Given the description of an element on the screen output the (x, y) to click on. 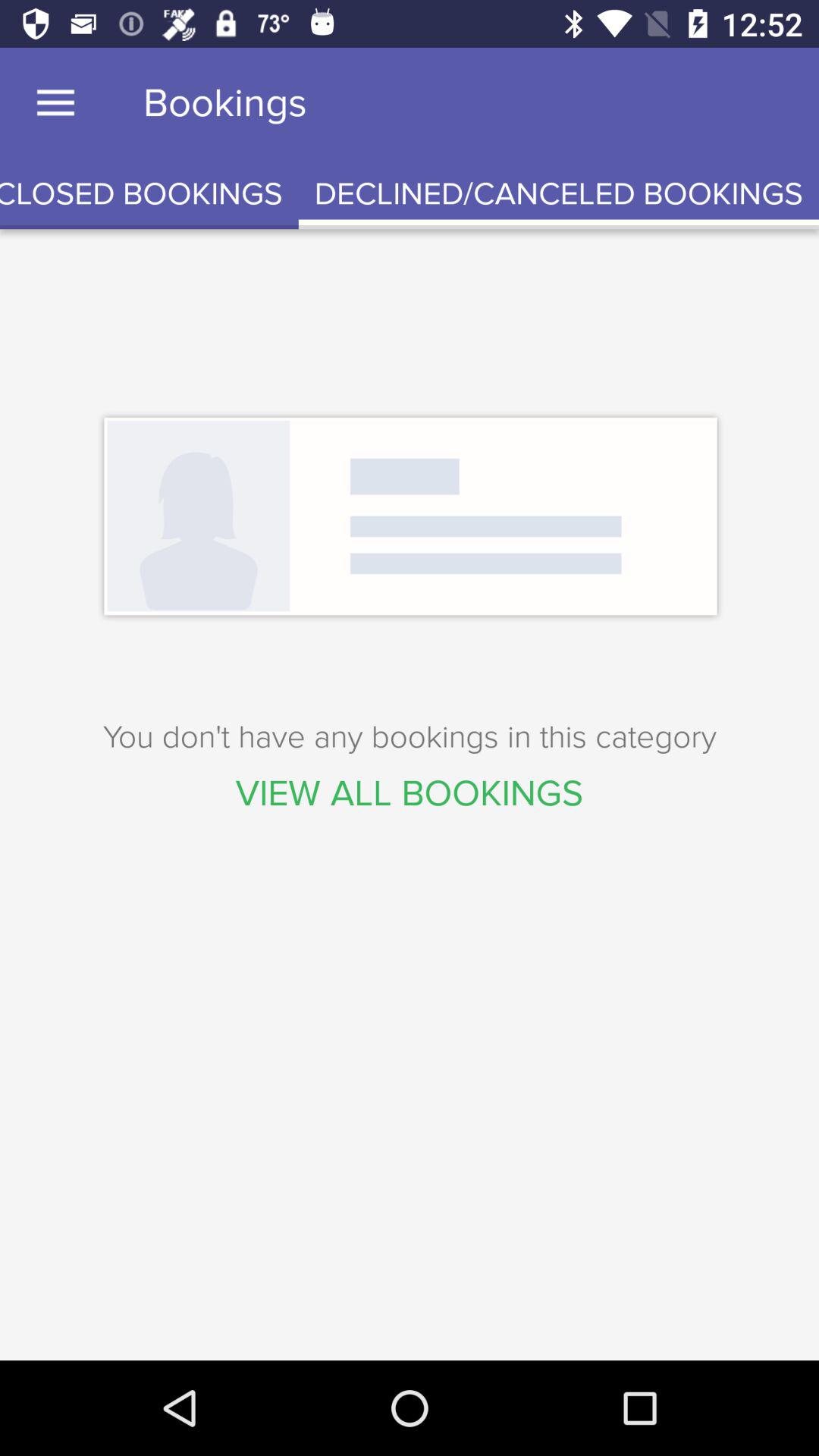
launch the view all bookings icon (409, 793)
